Given the description of an element on the screen output the (x, y) to click on. 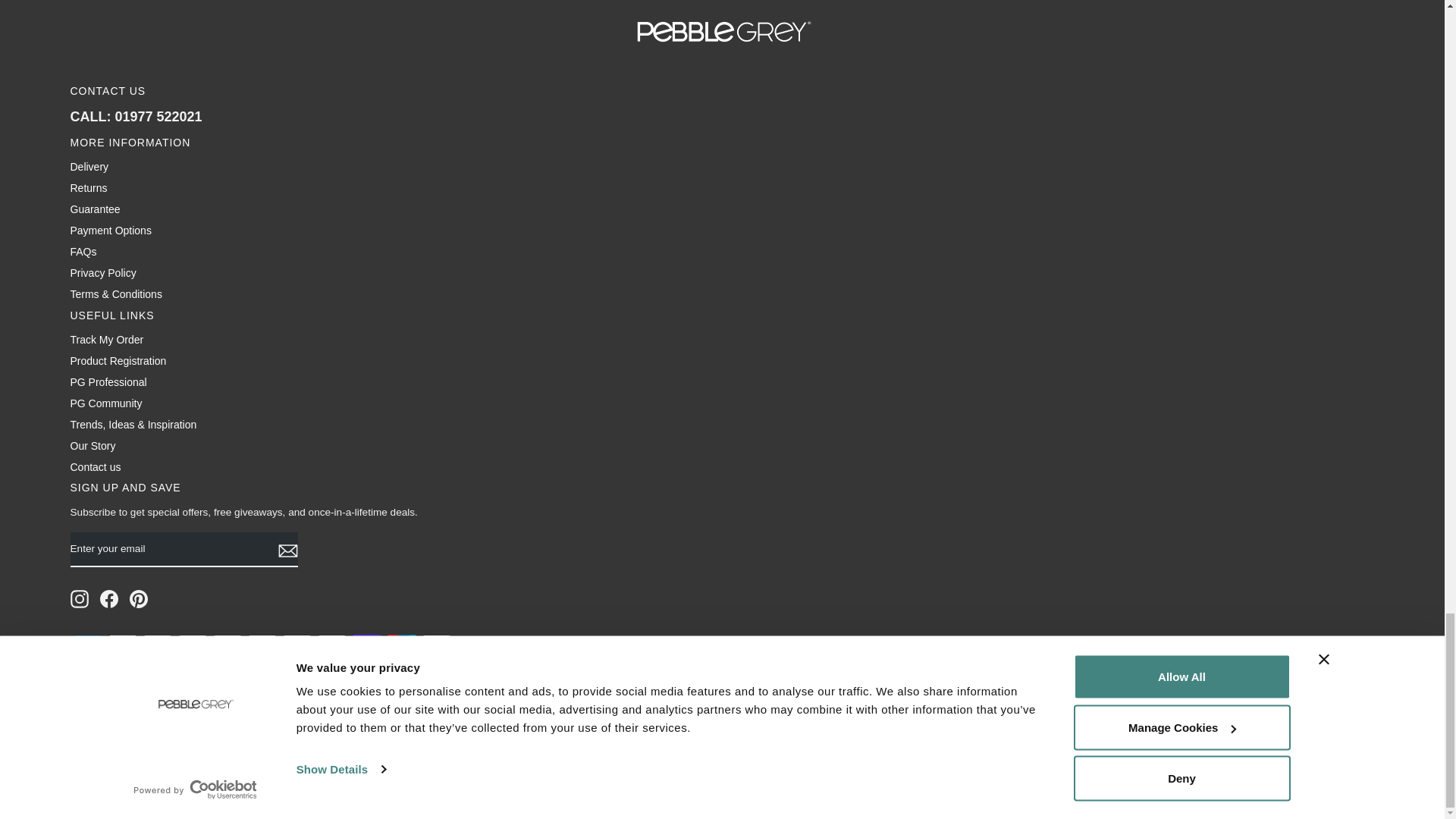
Apple Pay (121, 643)
Visa (435, 643)
Discover (191, 643)
PayPal (331, 643)
Union Pay (400, 643)
American Express (86, 643)
Diners Club (156, 643)
Mastercard (296, 643)
Maestro (261, 643)
Shop Pay (366, 643)
Google Pay (226, 643)
